Given the description of an element on the screen output the (x, y) to click on. 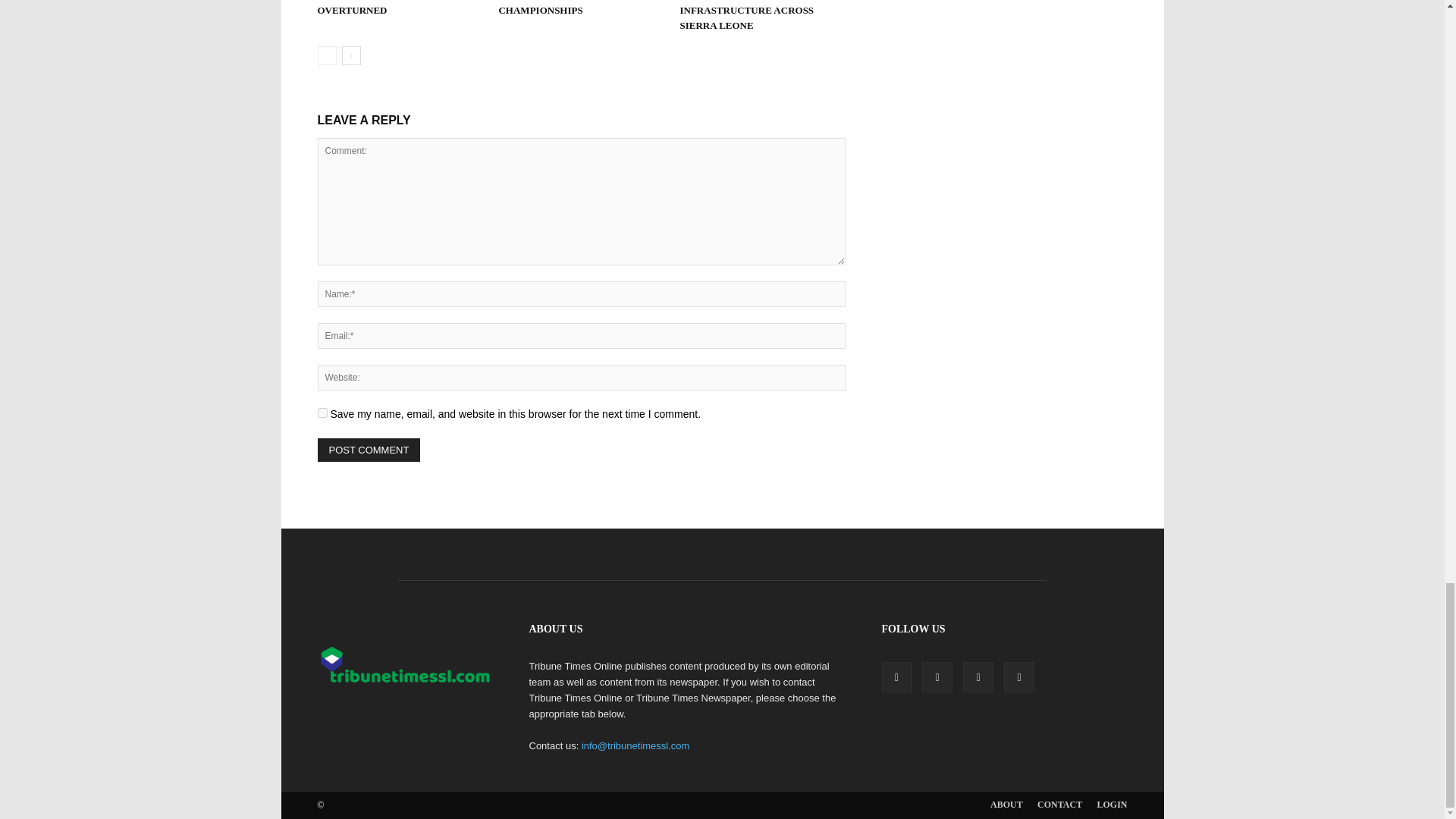
Post Comment (368, 449)
yes (321, 412)
Decision to relegate Freetown City FC overturned (377, 7)
